Given the description of an element on the screen output the (x, y) to click on. 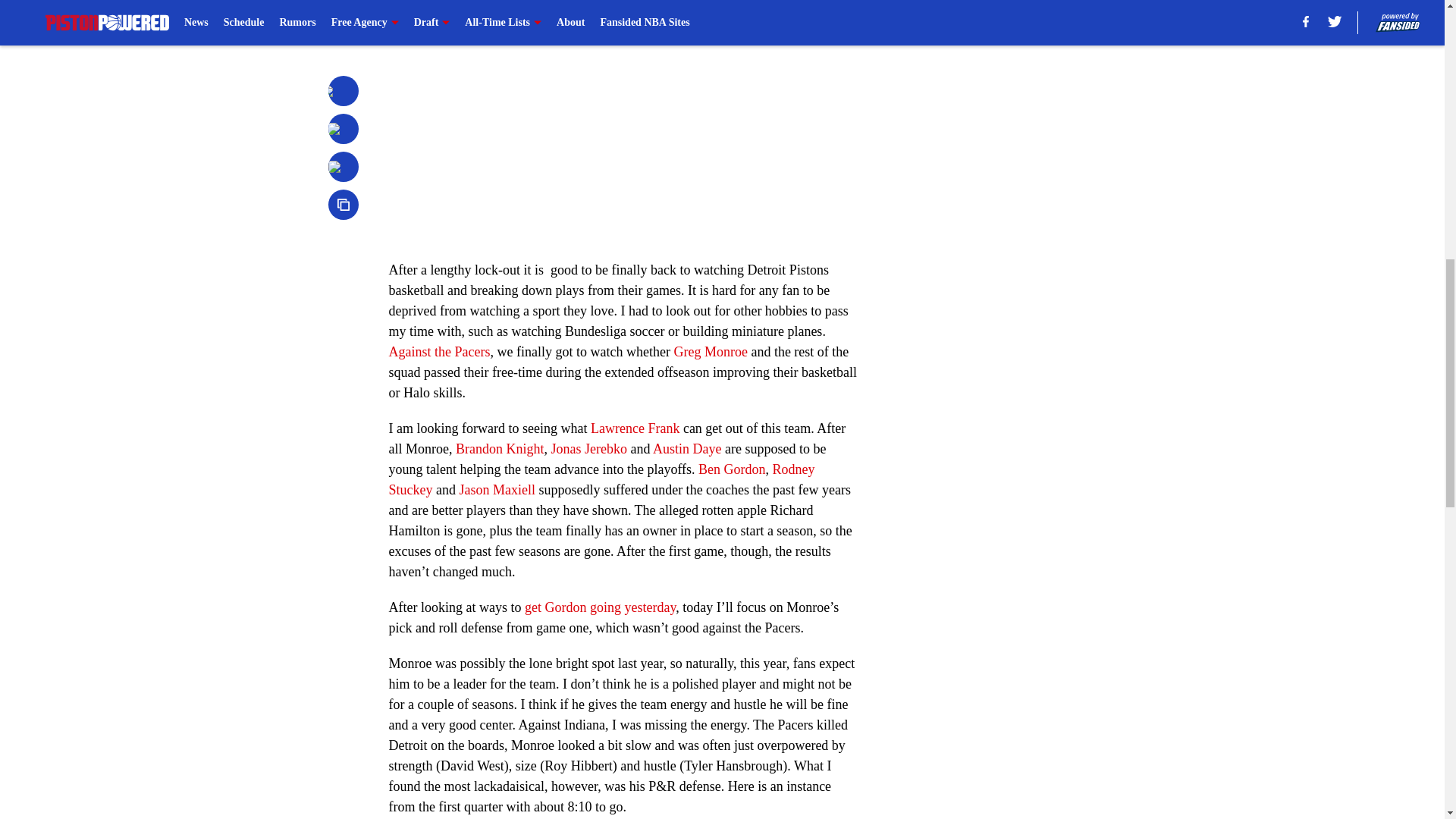
Ben Gordon (731, 468)
Jason Maxiell (497, 489)
Greg Monroe (709, 351)
get Gordon going yesterday (599, 607)
Austin Daye (686, 448)
Brandon Knight (499, 448)
Lawrence Frank (635, 427)
Against the Pacers (438, 351)
Jonas Jerebko (588, 448)
Rodney Stuckey (600, 479)
